Given the description of an element on the screen output the (x, y) to click on. 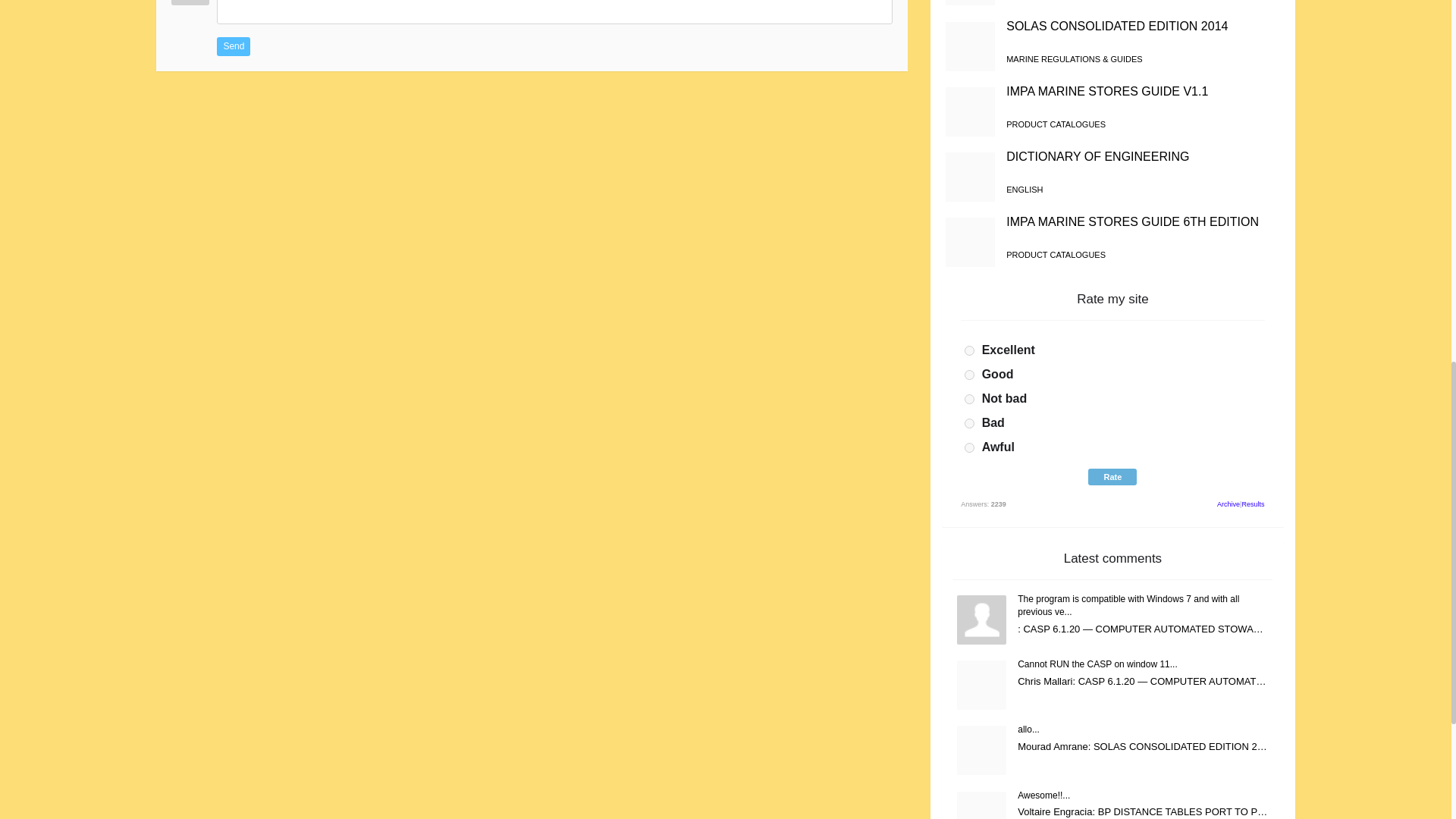
4 (968, 423)
IMPA MARINE STORES GUIDE V1.1 (1107, 91)
IMPA MARINE STORES GUIDE 6TH EDITION (1132, 221)
PRODUCT CATALOGUES (1055, 123)
5 (968, 447)
1 (968, 350)
3 (968, 398)
ENGLISH (1024, 189)
2 (968, 375)
PRODUCT CATALOGUES (1055, 254)
